Given the description of an element on the screen output the (x, y) to click on. 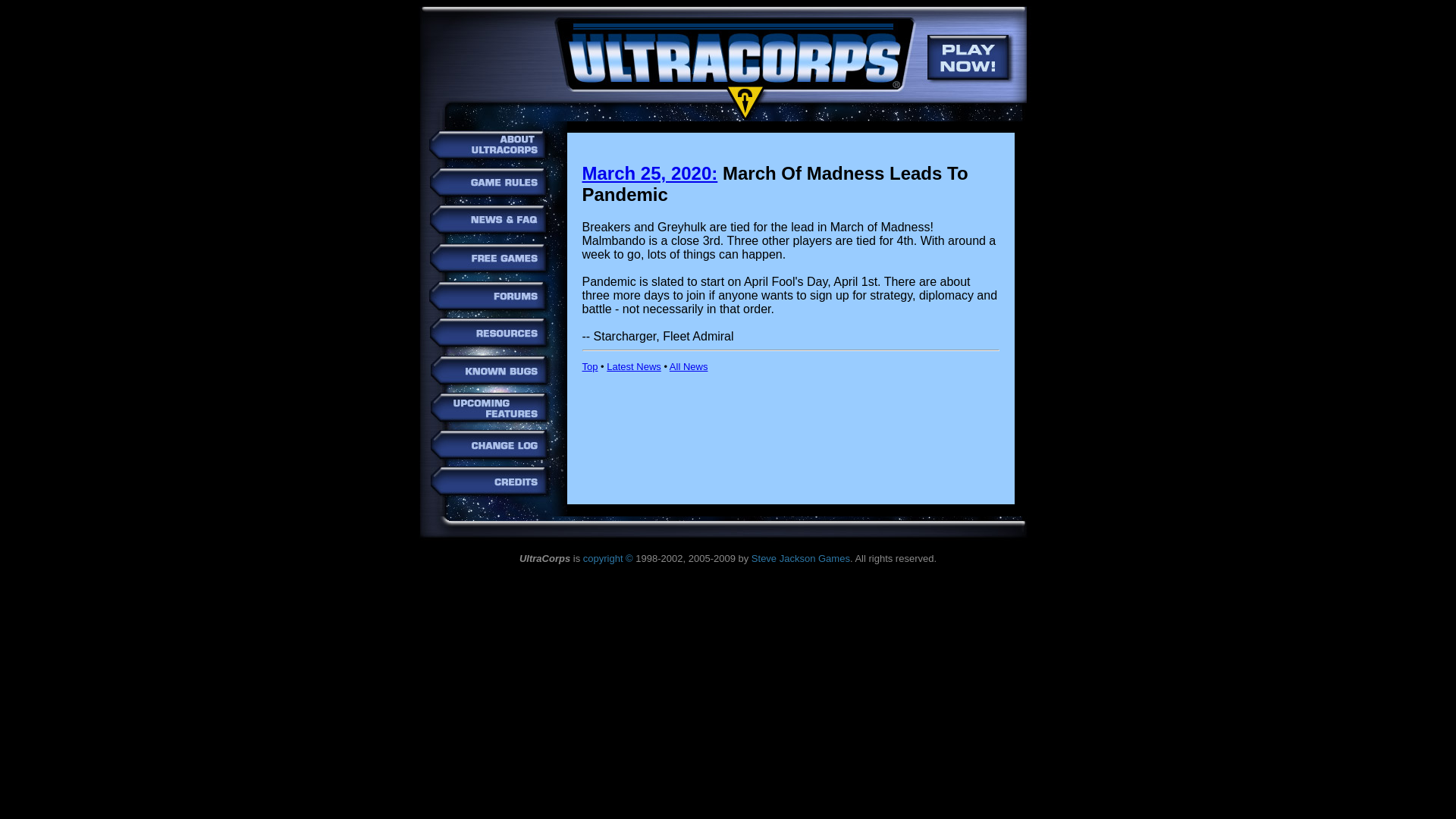
March 25, 2020: (649, 172)
All News (688, 366)
Latest News (634, 366)
Top (590, 366)
